Given the description of an element on the screen output the (x, y) to click on. 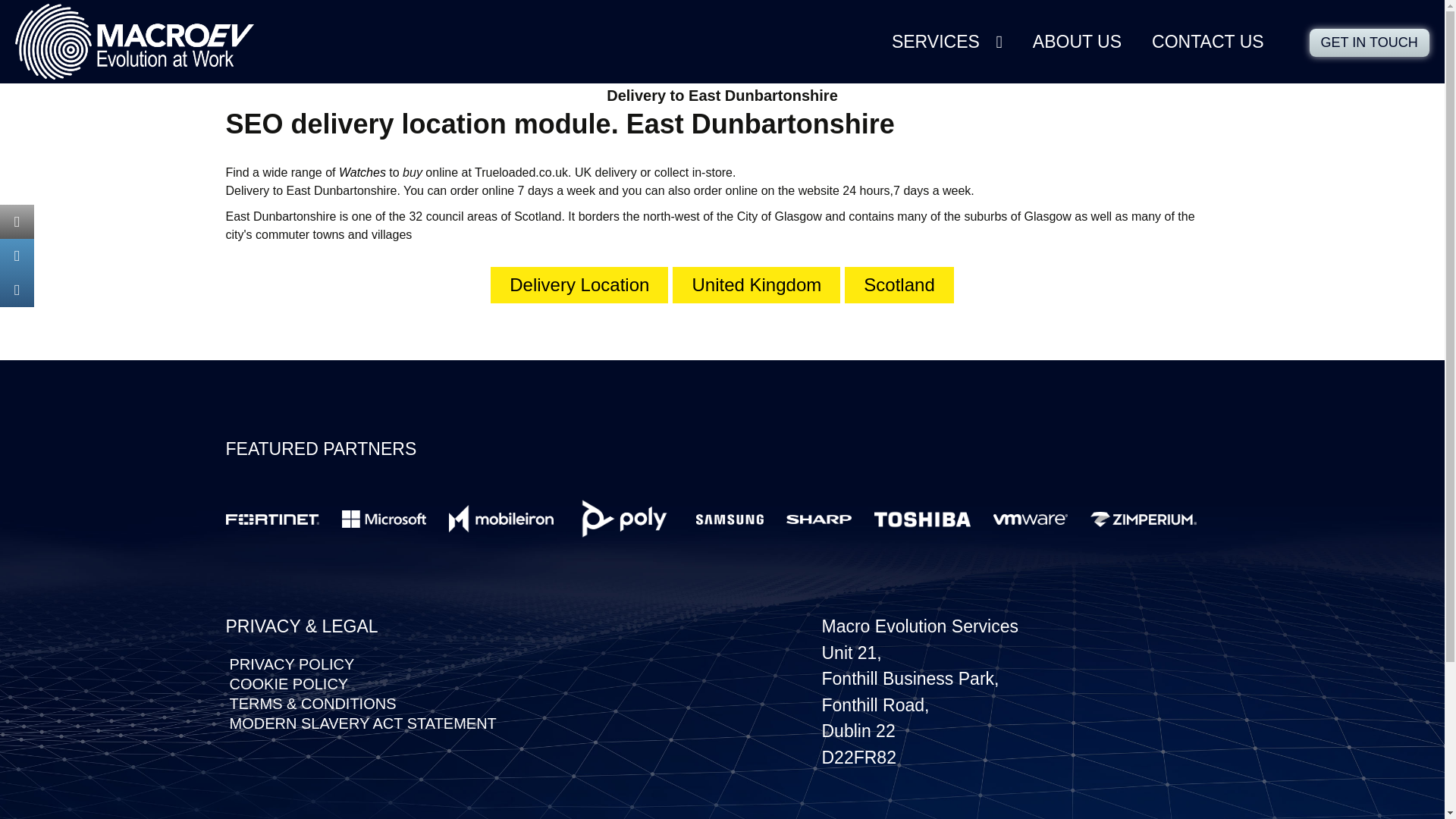
GET IN TOUCH (1368, 42)
